Given the description of an element on the screen output the (x, y) to click on. 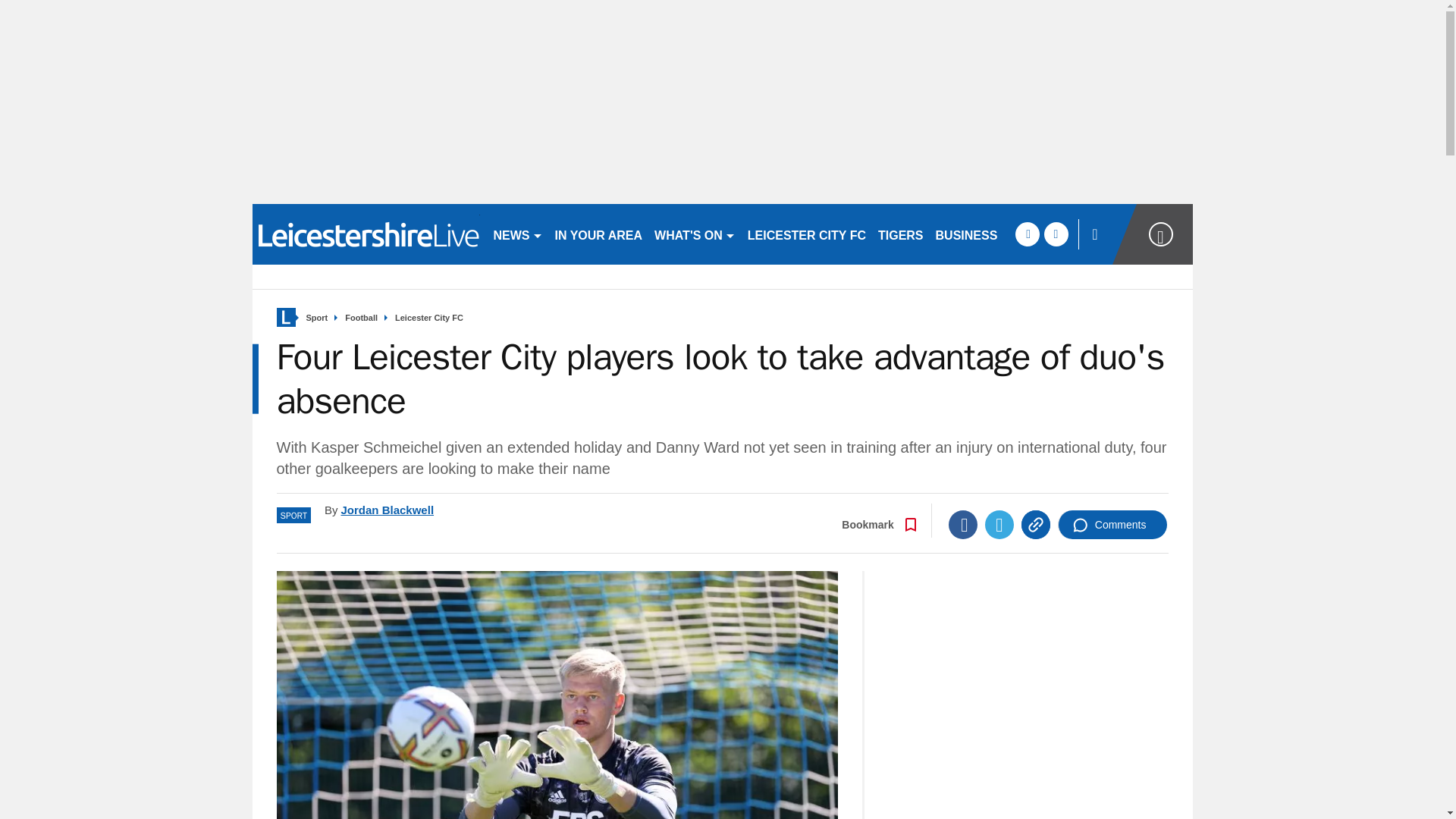
NEWS (517, 233)
LEICESTER CITY FC (806, 233)
facebook (1026, 233)
Twitter (999, 524)
TIGERS (901, 233)
twitter (1055, 233)
WHAT'S ON (694, 233)
leicestermercury (365, 233)
Comments (1112, 524)
IN YOUR AREA (598, 233)
BUSINESS (967, 233)
Facebook (962, 524)
